Given the description of an element on the screen output the (x, y) to click on. 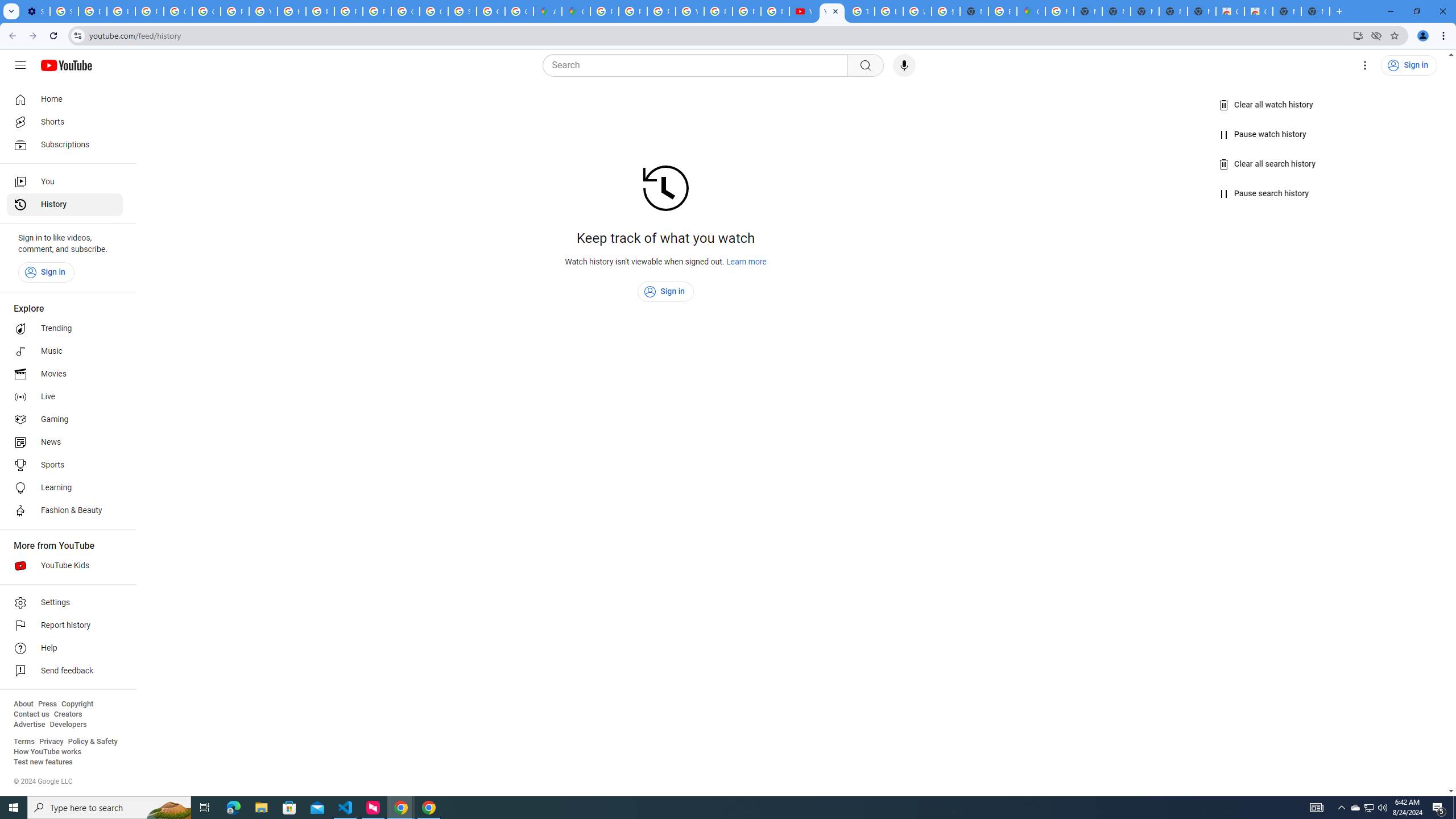
Policy Accountability and Transparency - Transparency Center (604, 11)
Pause watch history (1263, 134)
News (64, 441)
Explore new street-level details - Google Maps Help (1002, 11)
Classic Blue - Chrome Web Store (1230, 11)
YouTube (831, 11)
YouTube Kids (64, 565)
Contact us (31, 714)
Guide (20, 65)
Send feedback (64, 671)
Create your Google Account (518, 11)
Press (46, 703)
